Given the description of an element on the screen output the (x, y) to click on. 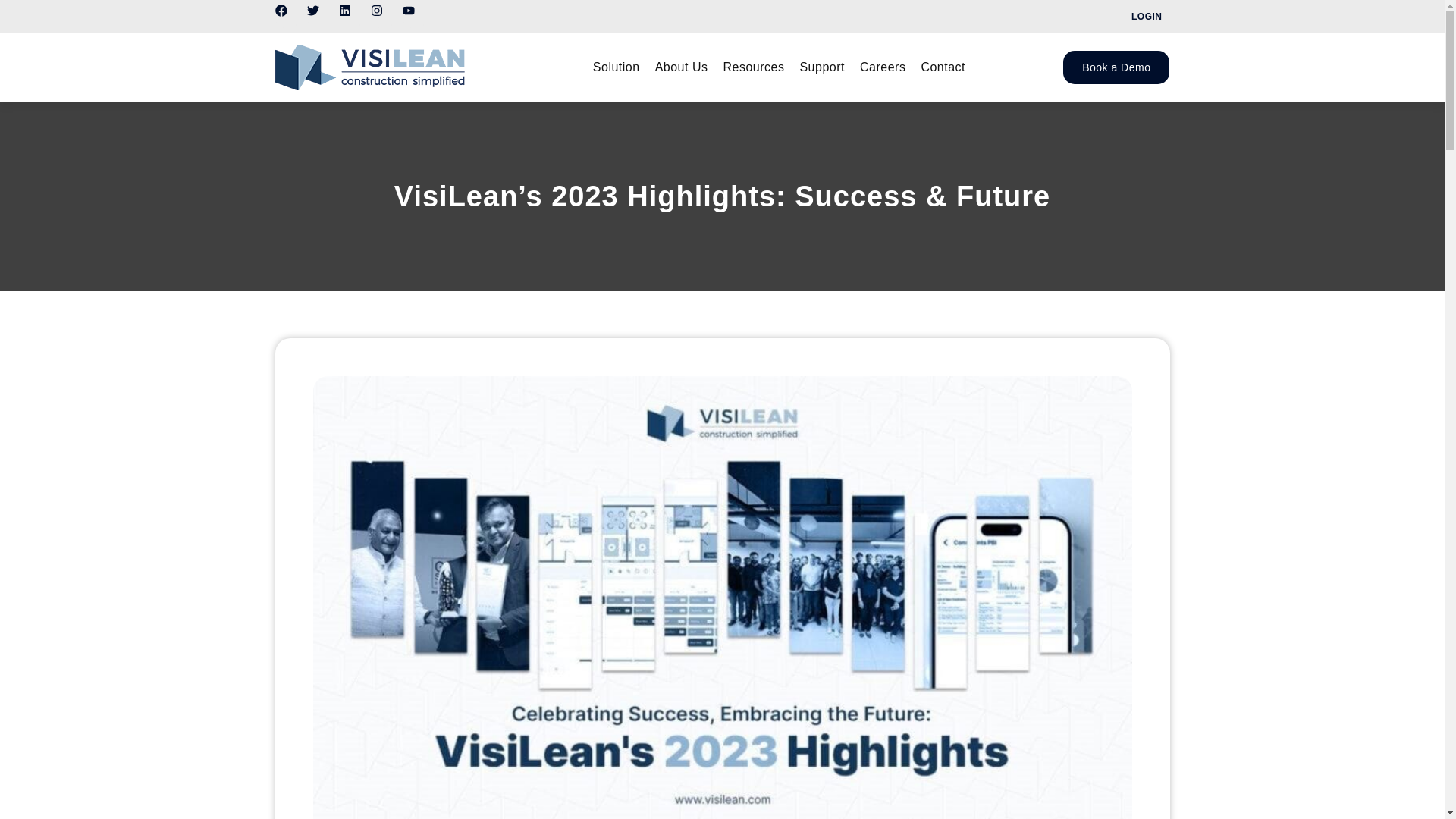
Careers (881, 67)
Contact (942, 67)
Resources (753, 67)
Support (821, 67)
Solution (616, 67)
Visilean Logo 250 x 60 (369, 67)
LOGIN (1147, 16)
About Us (681, 67)
Book a Demo (1115, 67)
